Given the description of an element on the screen output the (x, y) to click on. 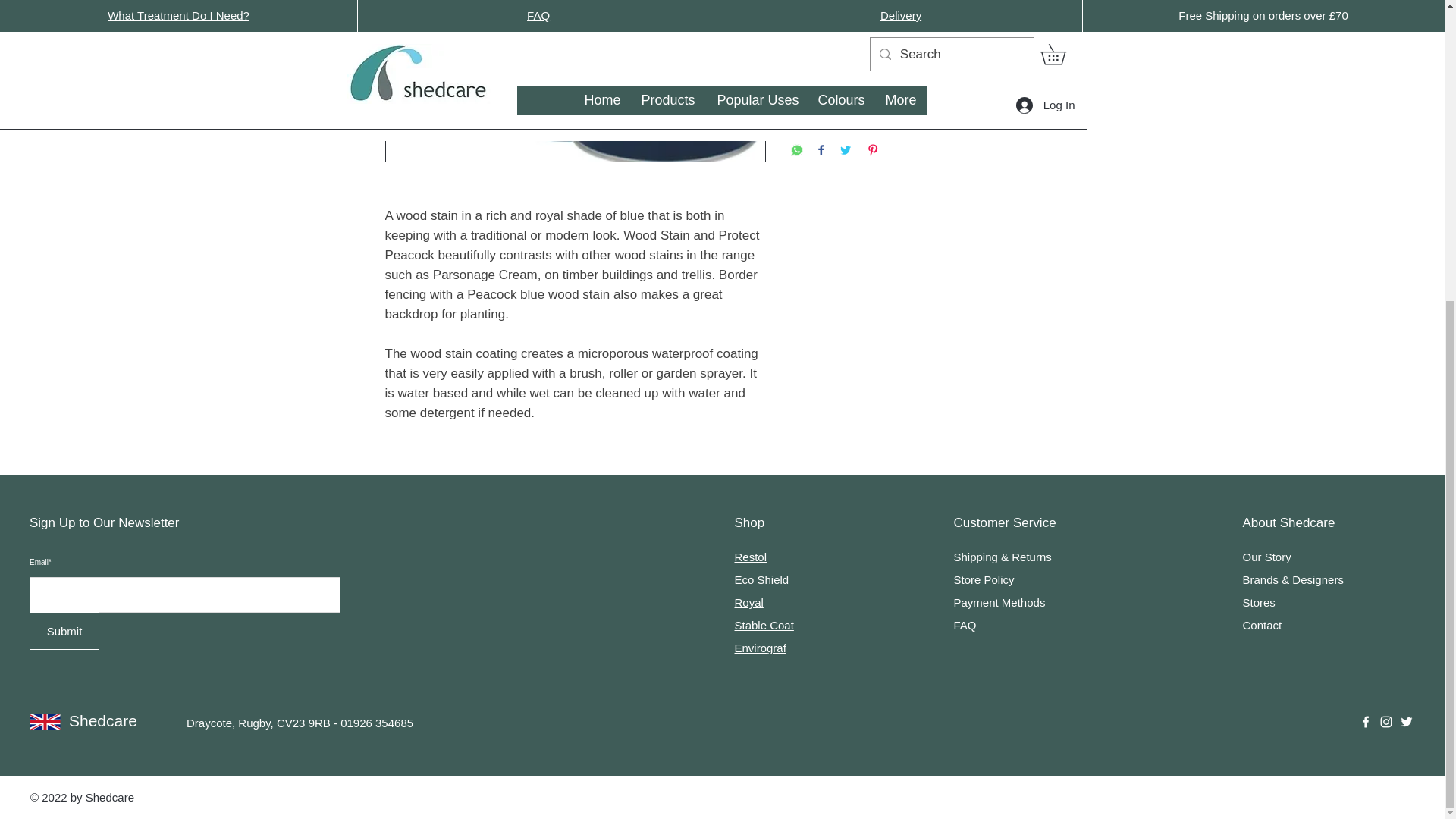
Submit (64, 630)
Royal (747, 602)
Stable Coat (763, 625)
Add to Cart (924, 13)
Product Details (924, 72)
Restol (750, 556)
Eco Shield (761, 579)
